Given the description of an element on the screen output the (x, y) to click on. 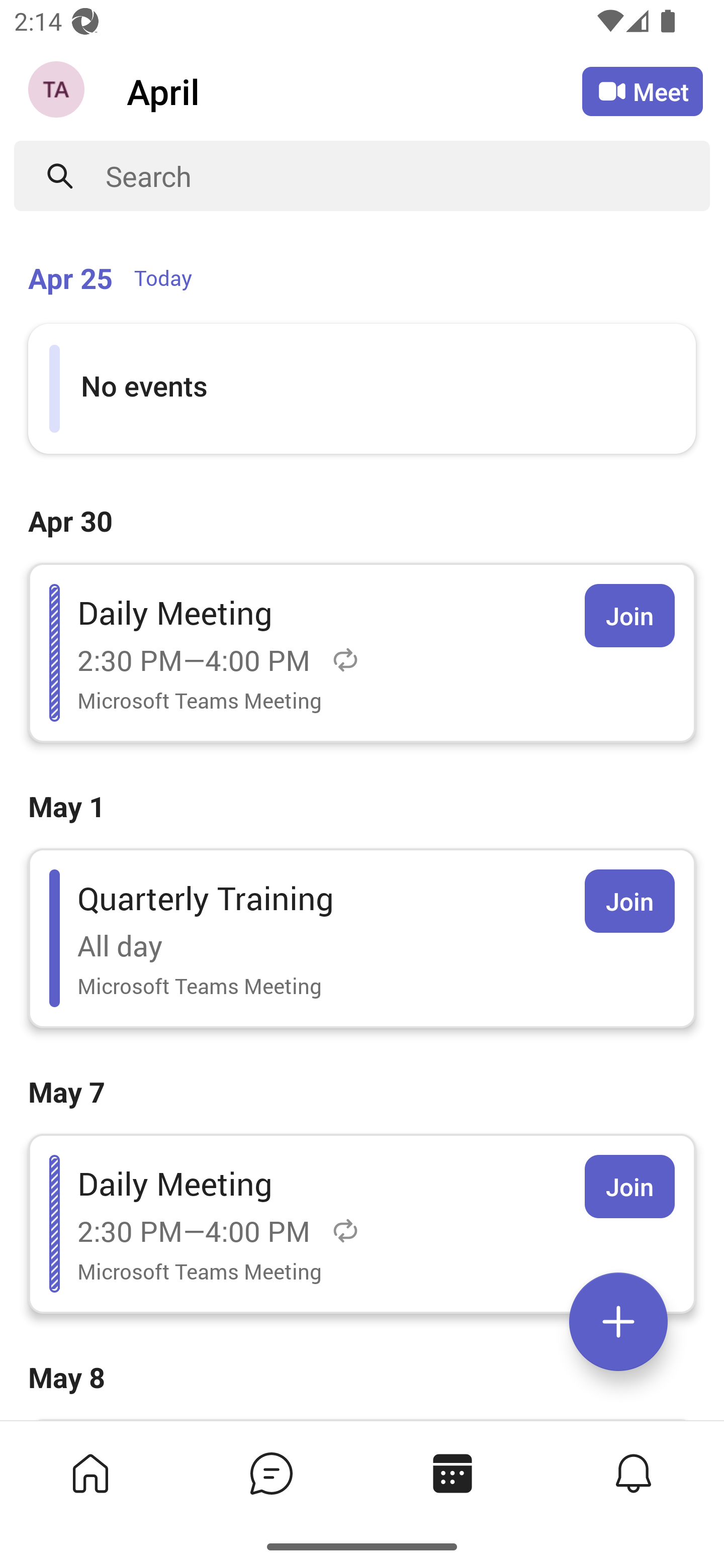
Navigation (58, 91)
Meet Meet now or join with an ID (642, 91)
April April Calendar Agenda View (354, 90)
Search (407, 176)
Join (629, 615)
Join (629, 900)
Join (629, 1186)
Expand meetings menu (618, 1321)
Home tab,1 of 4, not selected (90, 1472)
Chat tab,2 of 4, not selected (271, 1472)
Calendar tab, 3 of 4 (452, 1472)
Activity tab,4 of 4, not selected (633, 1472)
